Given the description of an element on the screen output the (x, y) to click on. 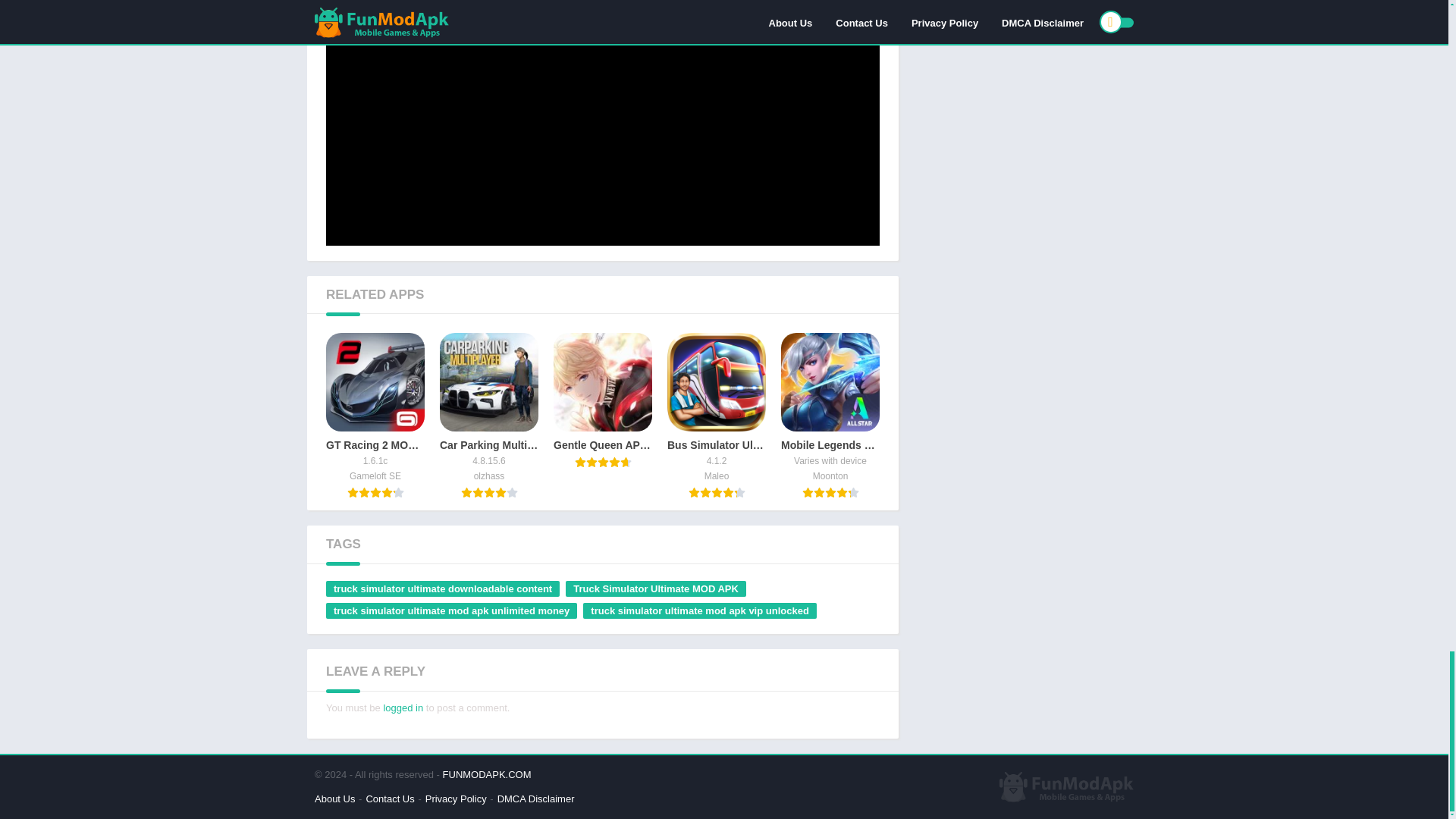
Gentle Queen APK v1.22.0209 Download For Android (602, 400)
